Given the description of an element on the screen output the (x, y) to click on. 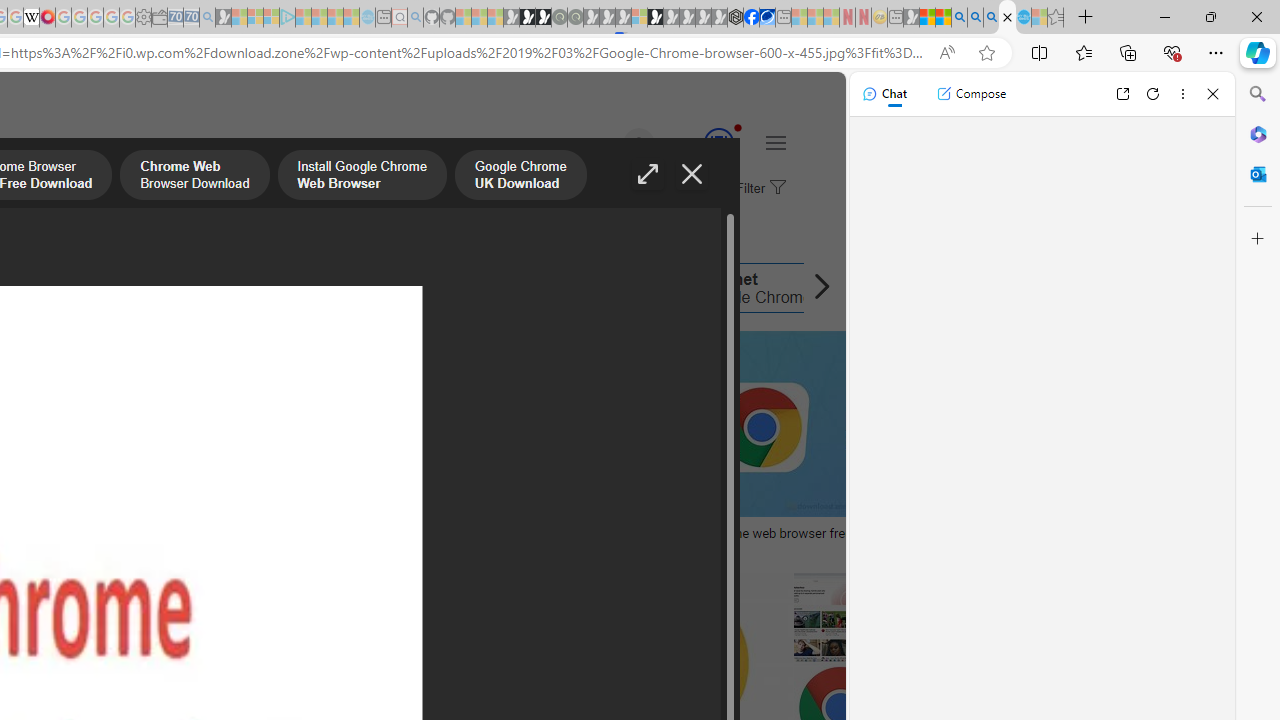
How to download & install Chrome on Windows 10 /11Save (478, 448)
Google chrome web browser free download for Mac and Window (817, 541)
AutomationID: rh_meter (718, 142)
AutomationID: serp_medal_svg (718, 142)
Bing AI - Search (959, 17)
